Given the description of an element on the screen output the (x, y) to click on. 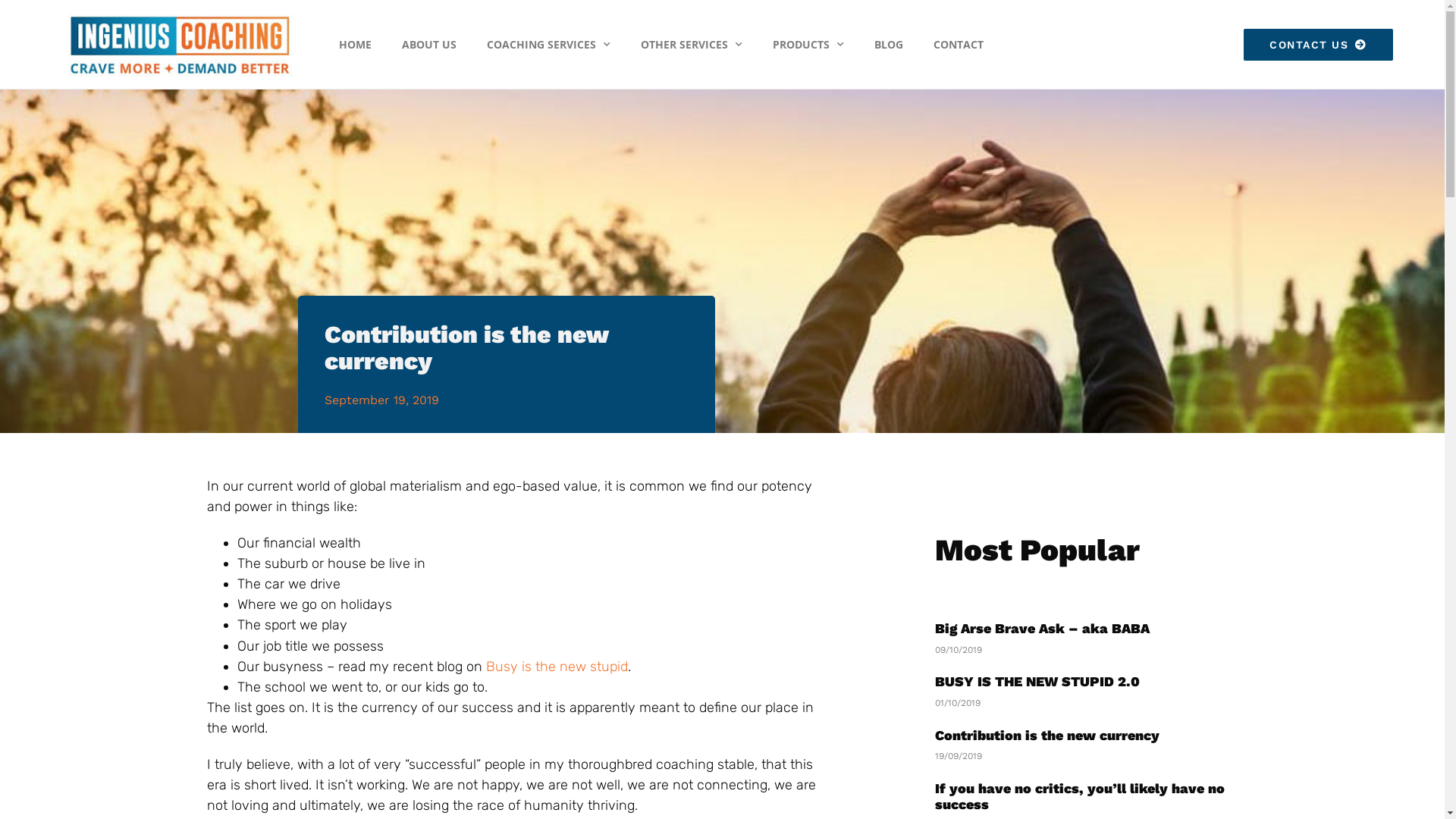
CONTACT Element type: text (958, 44)
BUSY IS THE NEW STUPID 2.0 Element type: text (1036, 681)
Busy is the new stupid Element type: text (556, 666)
OTHER SERVICES Element type: text (691, 44)
CONTACT US Element type: text (1317, 44)
BLOG Element type: text (888, 44)
ABOUT US Element type: text (428, 44)
PRODUCTS Element type: text (808, 44)
Contribution is the new currency Element type: text (1046, 735)
COACHING SERVICES Element type: text (548, 44)
September 19, 2019 Element type: text (381, 399)
HOME Element type: text (354, 44)
